Given the description of an element on the screen output the (x, y) to click on. 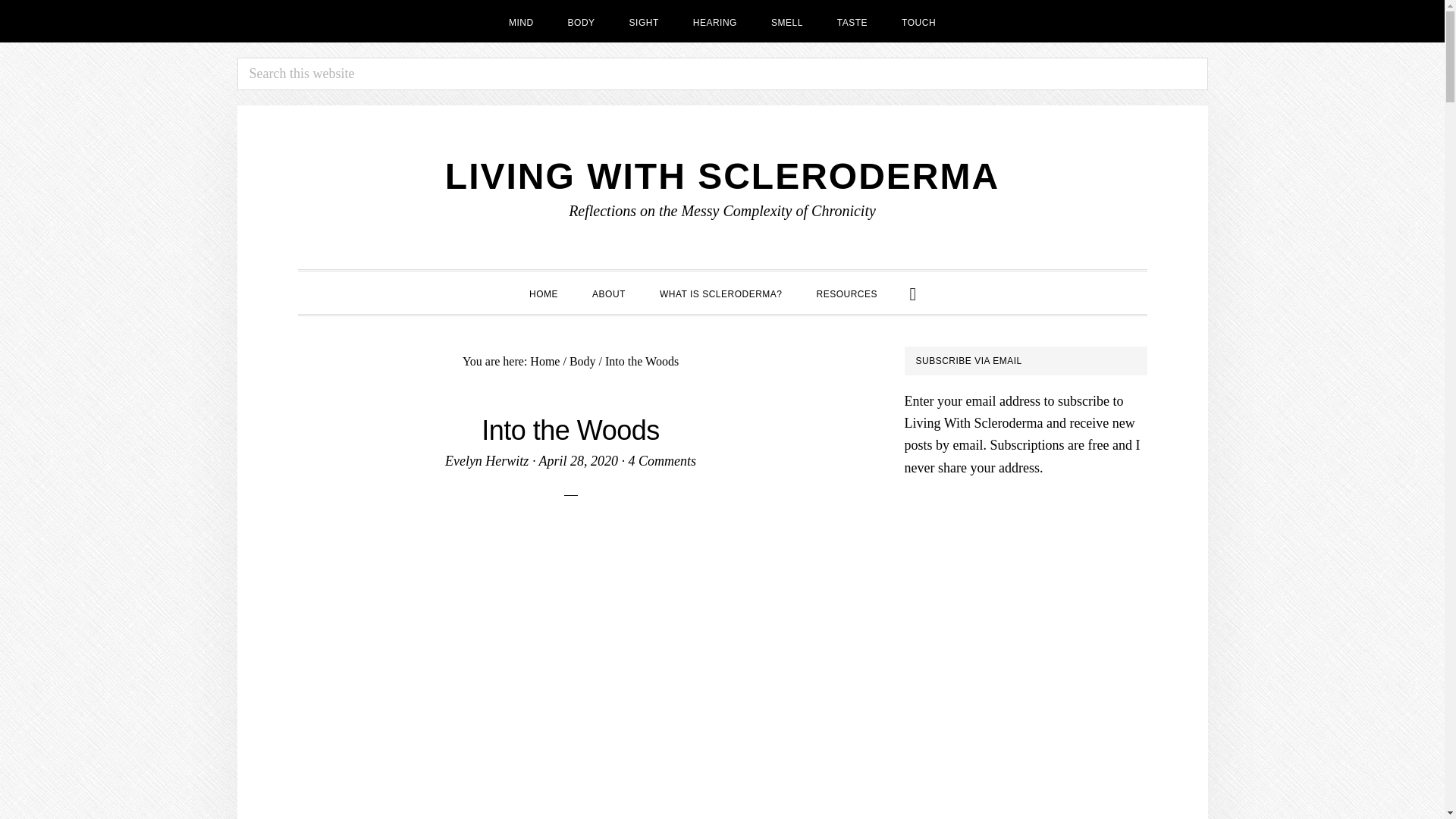
LIVING WITH SCLERODERMA (721, 176)
HOME (543, 292)
4 Comments (662, 460)
TOUCH (918, 21)
SMELL (786, 21)
BODY (581, 21)
TASTE (852, 21)
RESOURCES (847, 292)
HEARING (715, 21)
